Given the description of an element on the screen output the (x, y) to click on. 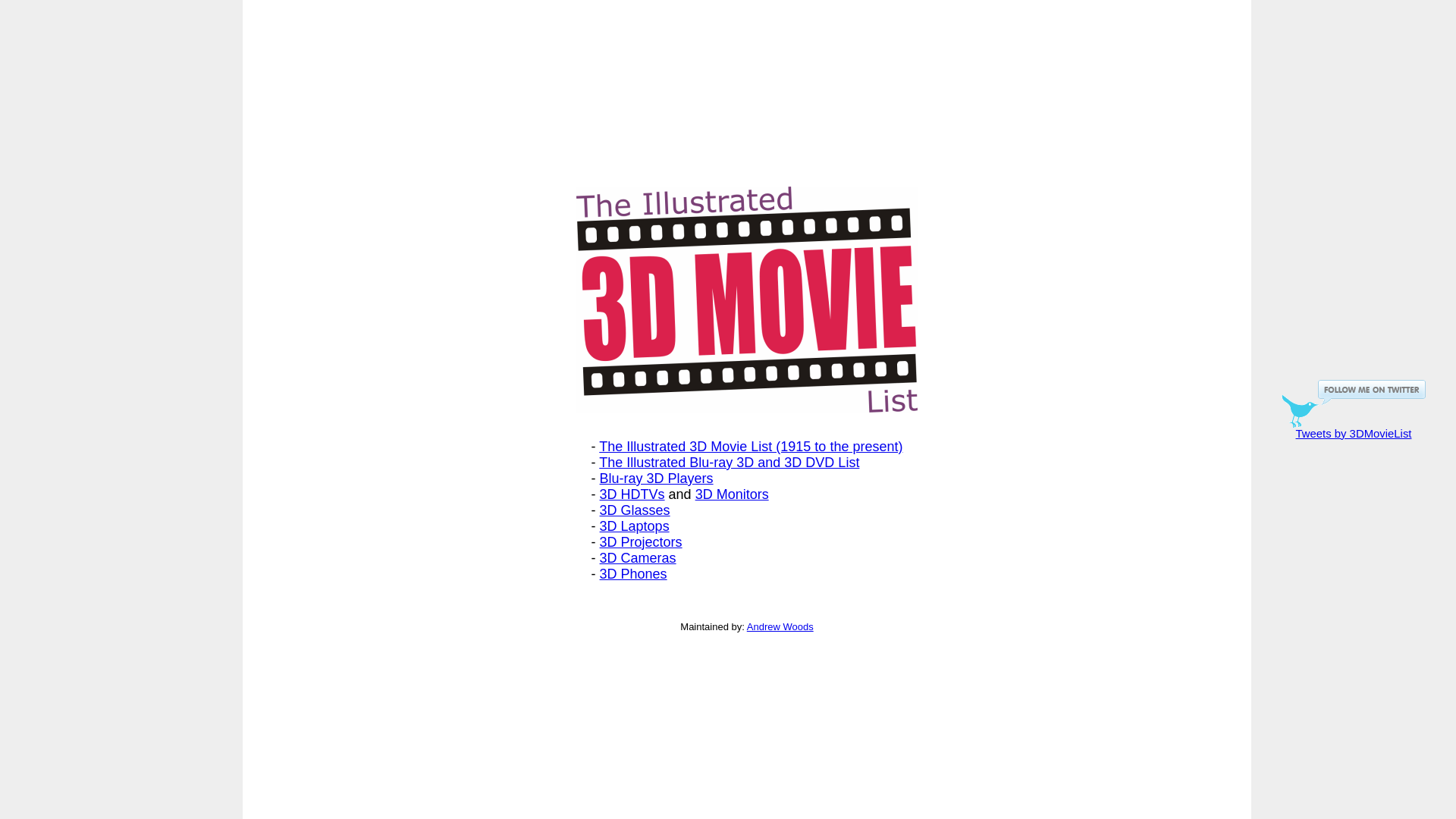
3D Laptops Element type: text (634, 525)
3D Projectors Element type: text (640, 541)
Advertisement Element type: hover (121, 510)
3D Phones Element type: text (633, 573)
3D Cameras Element type: text (637, 557)
Andrew Woods Element type: text (779, 626)
3D HDTVs Element type: text (632, 494)
Tweets by 3DMovieList Element type: text (1353, 433)
Blu-ray 3D Players Element type: text (656, 478)
3D Glasses Element type: text (634, 509)
Advertisement Element type: hover (121, 308)
The Illustrated Blu-ray 3D and 3D DVD List Element type: text (729, 462)
3D Monitors Element type: text (731, 494)
The Illustrated 3D Movie List (1915 to the present) Element type: text (750, 446)
